Given the description of an element on the screen output the (x, y) to click on. 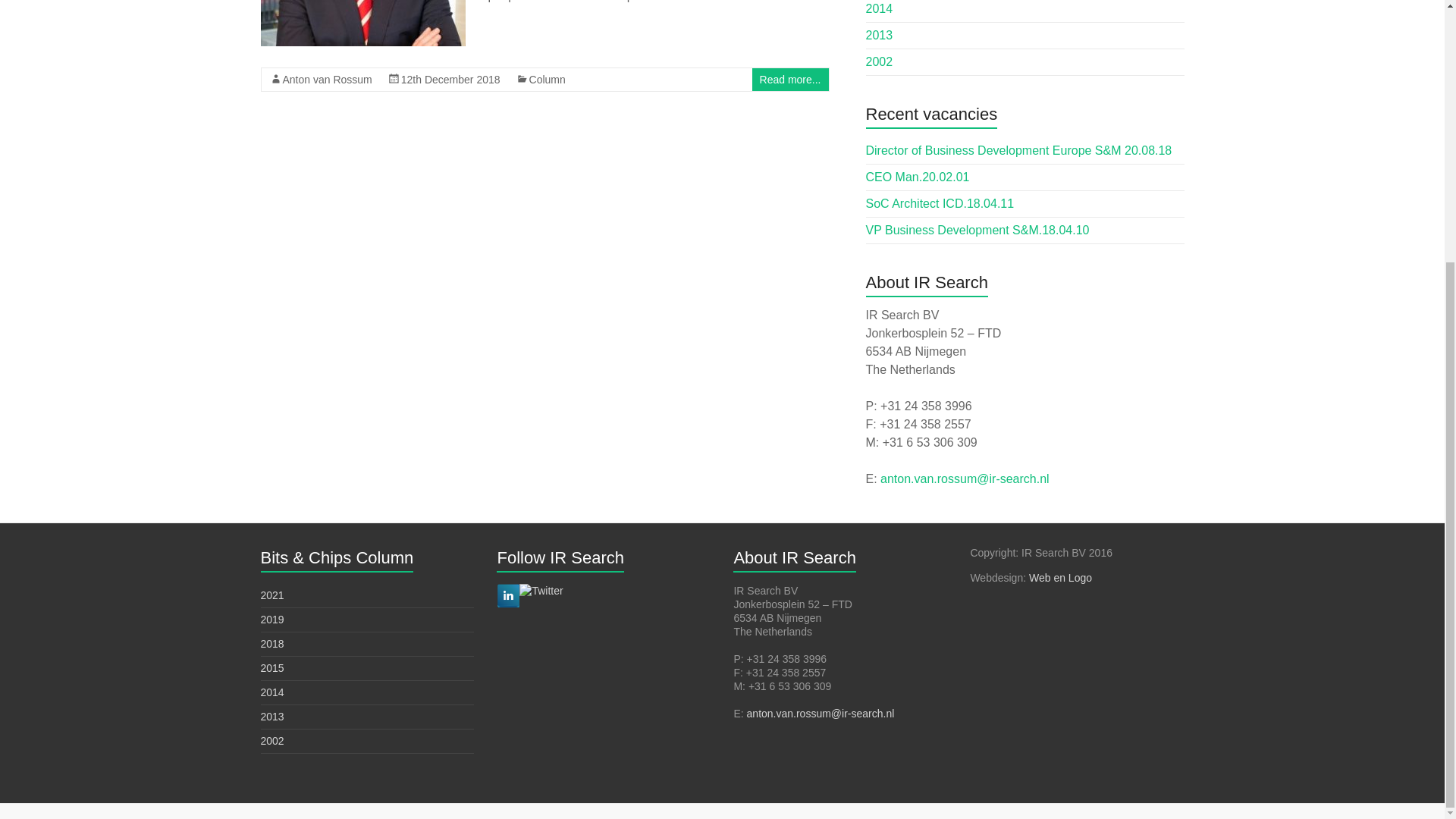
12th December 2018 (450, 79)
Read more... (790, 79)
Anton van Rossum (326, 79)
2021 (271, 594)
Column (547, 79)
CEO Man.20.02.01 (917, 176)
SoC Architect ICD.18.04.11 (940, 203)
2013 (879, 34)
2002 (879, 61)
2015 (271, 667)
